Given the description of an element on the screen output the (x, y) to click on. 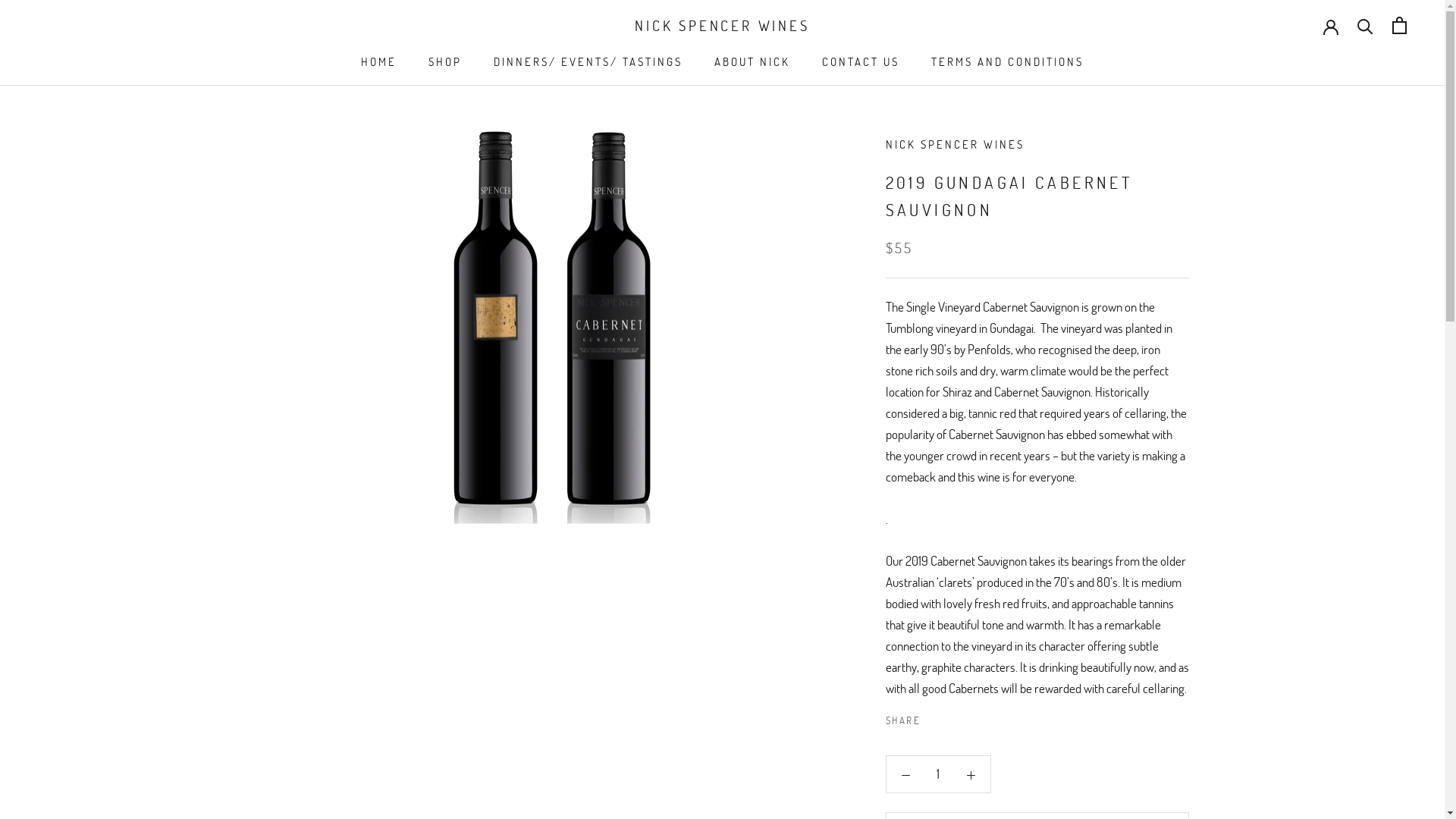
ABOUT NICK
ABOUT NICK Element type: text (752, 61)
CONTACT US
CONTACT US Element type: text (860, 61)
NICK SPENCER WINES Element type: text (721, 25)
DINNERS/ EVENTS/ TASTINGS
DINNERS/ EVENTS/ TASTINGS Element type: text (587, 61)
TERMS AND CONDITIONS
TERMS AND CONDITIONS Element type: text (1007, 61)
HOME
HOME Element type: text (378, 61)
SHOP Element type: text (444, 61)
